Given the description of an element on the screen output the (x, y) to click on. 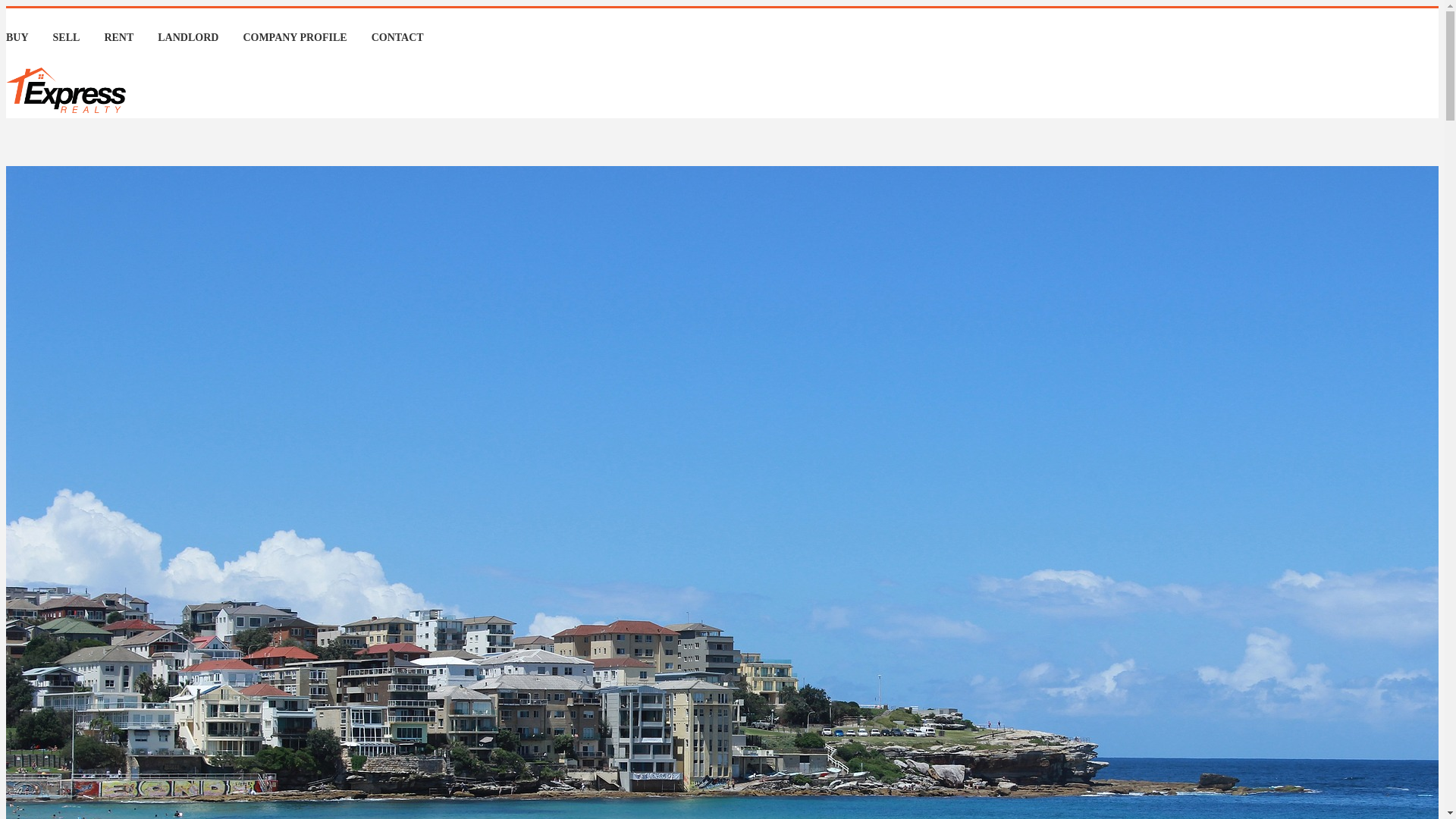
COMPANY PROFILE Element type: text (294, 37)
LANDLORD Element type: text (187, 37)
SELL Element type: text (66, 37)
BUY Element type: text (17, 37)
CONTACT Element type: text (397, 37)
RENT Element type: text (118, 37)
